Given the description of an element on the screen output the (x, y) to click on. 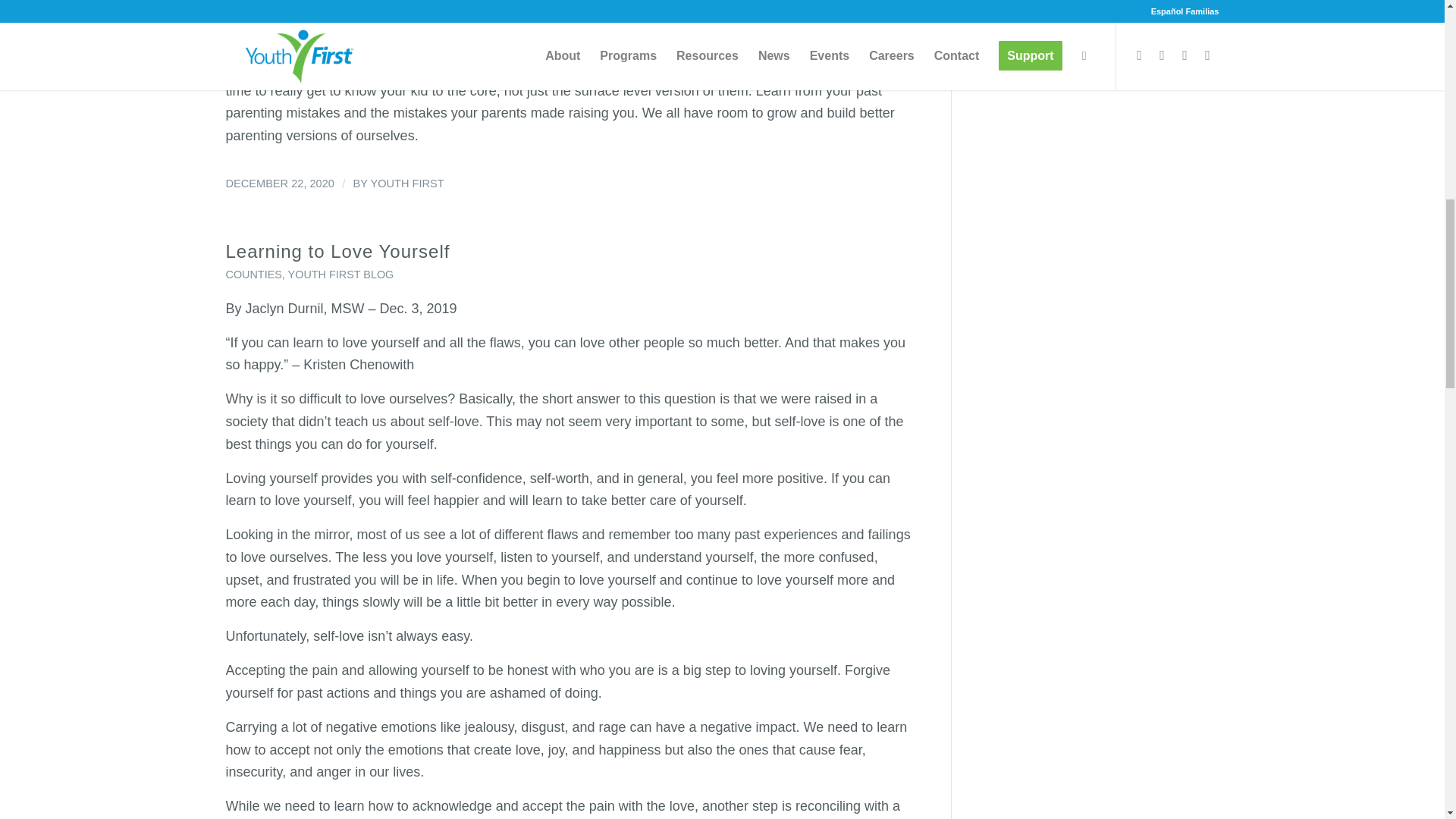
Permanent Link: Learning to Love Yourself (337, 250)
Posts by Youth First (406, 183)
